Given the description of an element on the screen output the (x, y) to click on. 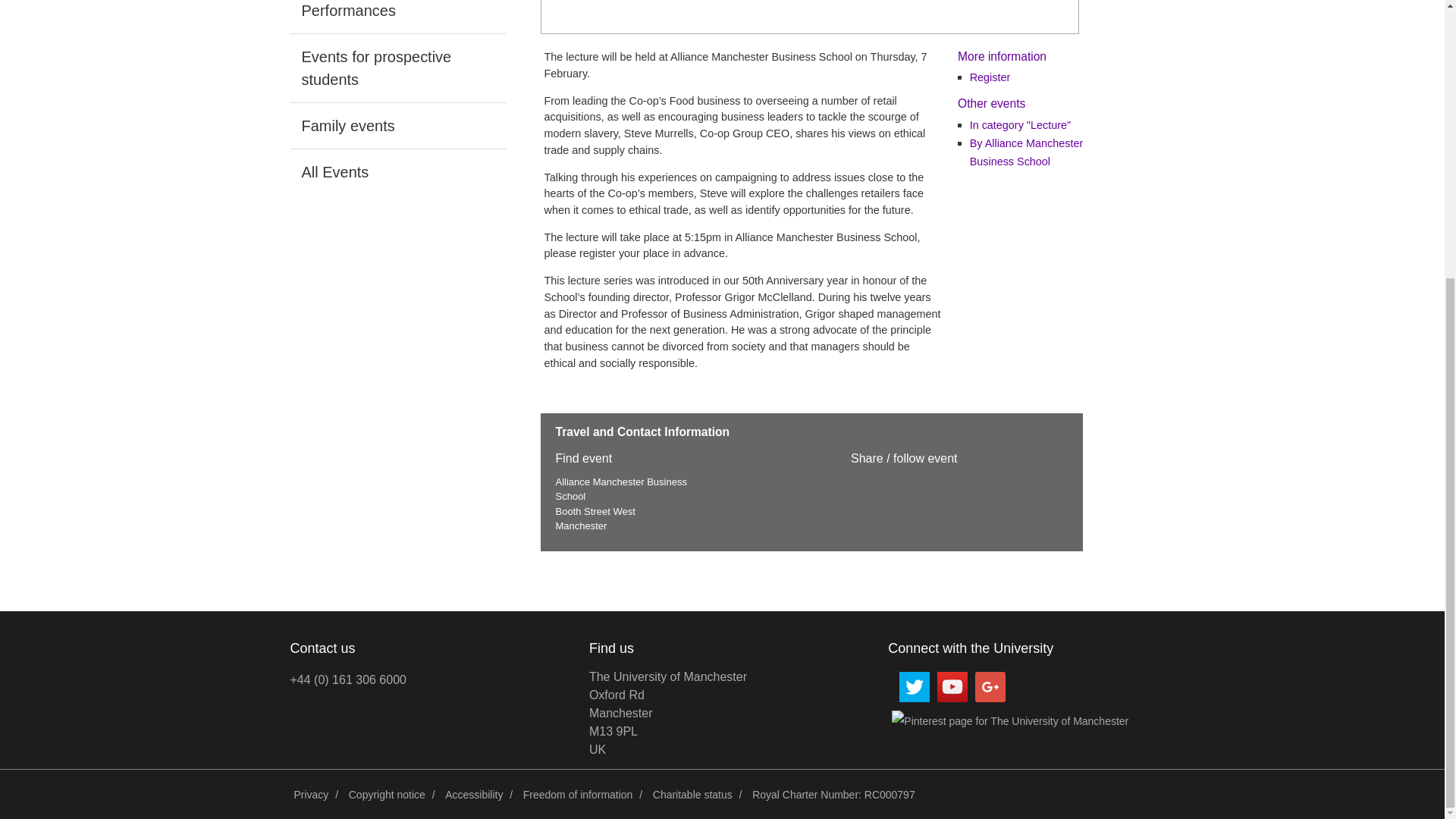
Copyright notice (387, 794)
All Events (397, 171)
Charitable status (667, 712)
In category "Lecture" (692, 794)
Privacy (1019, 124)
Accessibility (310, 794)
Performances (473, 794)
Family events (397, 16)
Events for prospective students (397, 125)
By Alliance Manchester Business School (397, 68)
Freedom of information (1026, 152)
Register (578, 794)
